Given the description of an element on the screen output the (x, y) to click on. 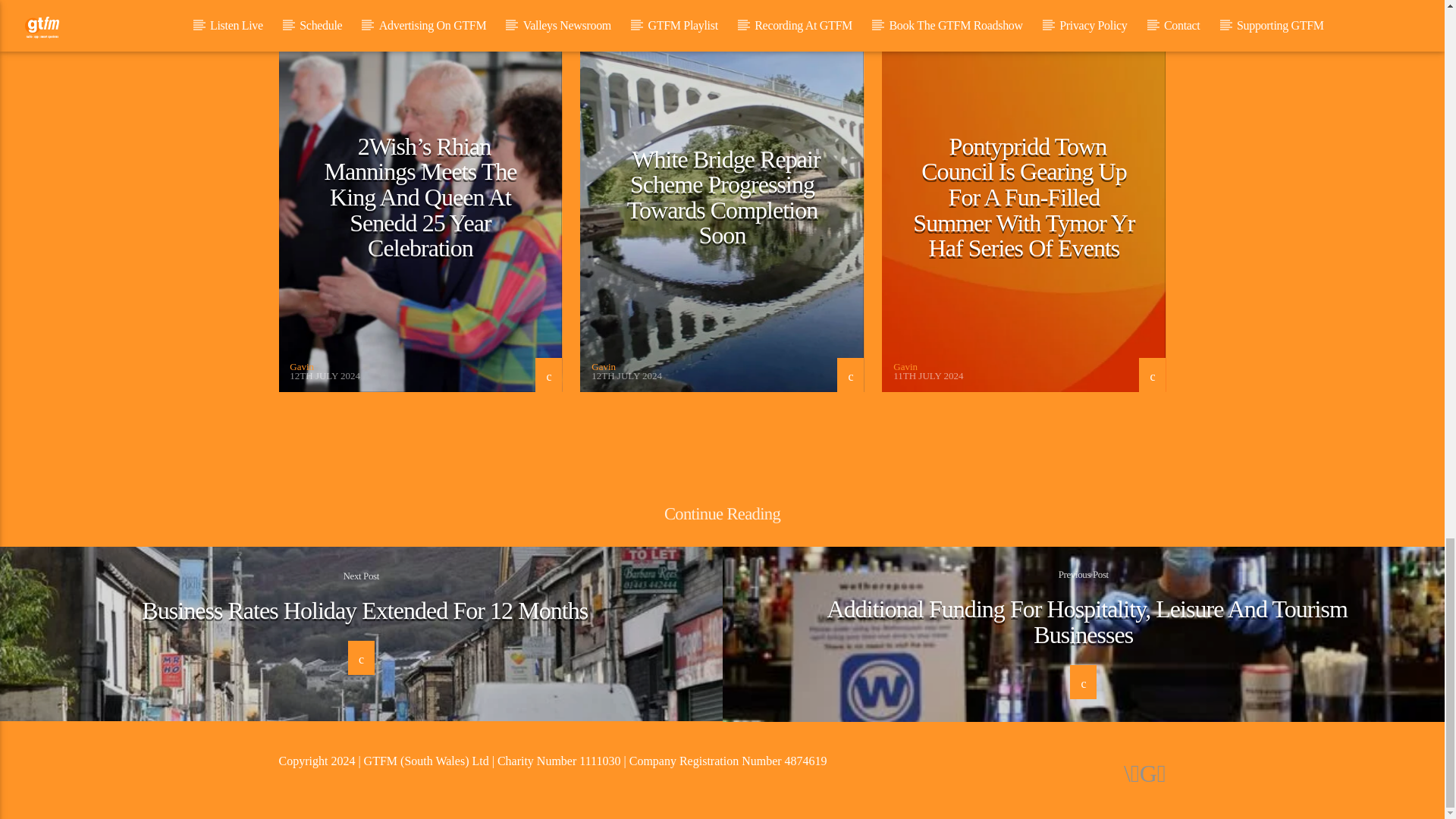
Posts by Gavin (603, 366)
Posts by Gavin (301, 366)
Posts by Gavin (905, 366)
